Given the description of an element on the screen output the (x, y) to click on. 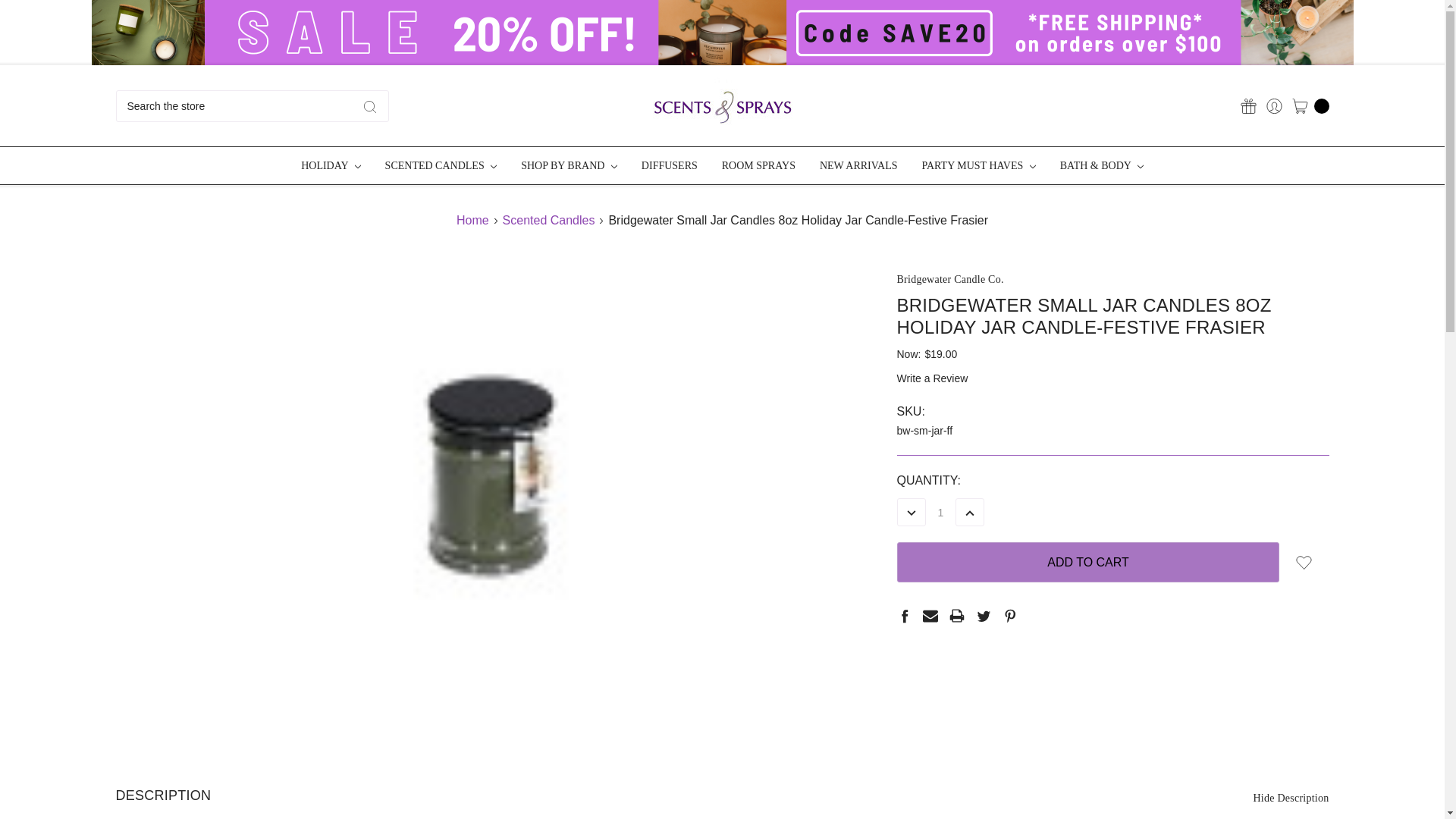
Twitter (983, 615)
Add to Cart (1087, 562)
0 (1305, 105)
HOLIDAY (330, 165)
Print (956, 615)
Scents and Sprays (721, 105)
1 (939, 512)
SHOP BY BRAND (568, 165)
PARTY MUST HAVES (977, 165)
Facebook (903, 615)
